Given the description of an element on the screen output the (x, y) to click on. 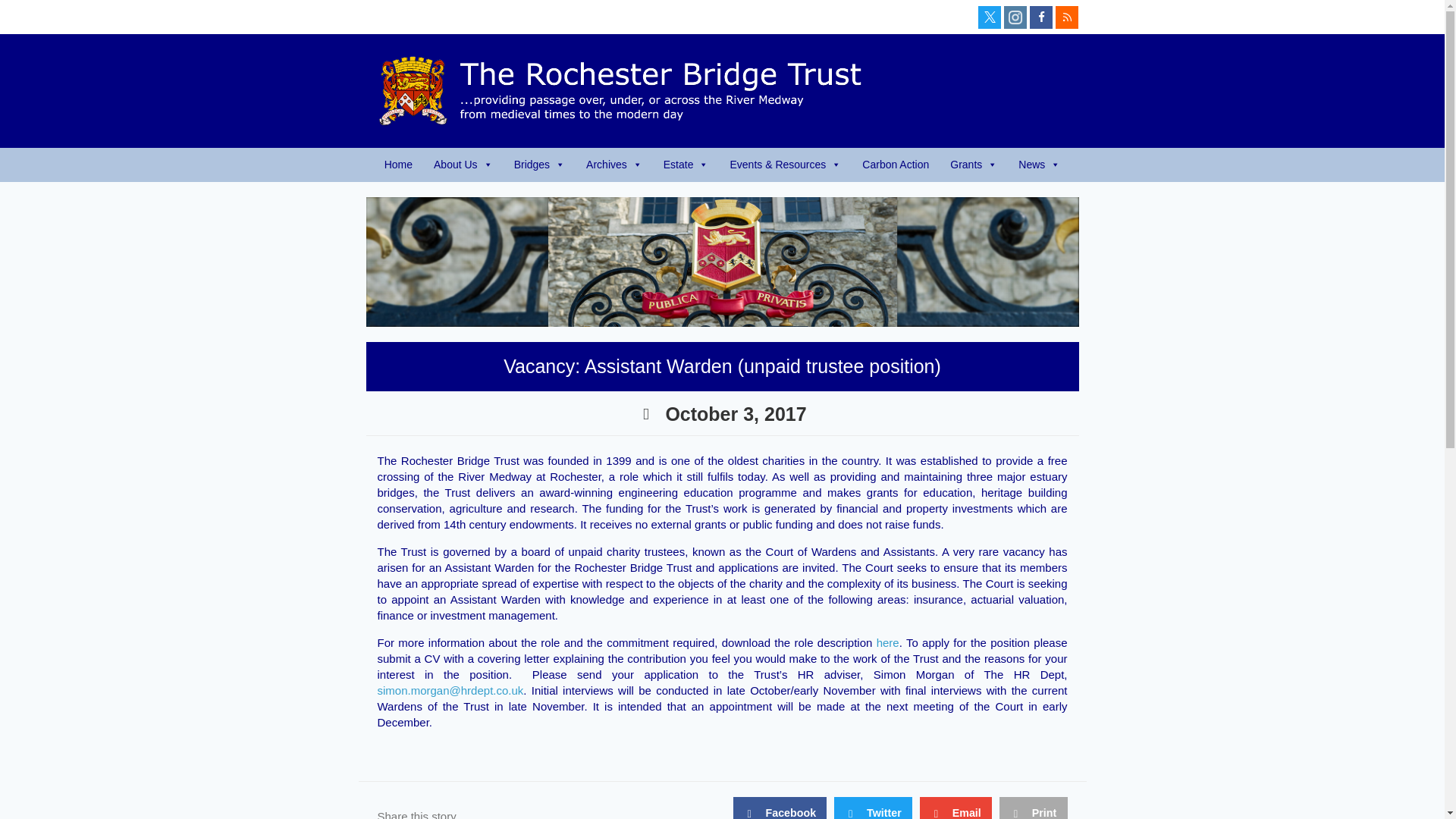
Bridges (539, 164)
Home (398, 164)
Home (398, 164)
About Us (463, 164)
